Given the description of an element on the screen output the (x, y) to click on. 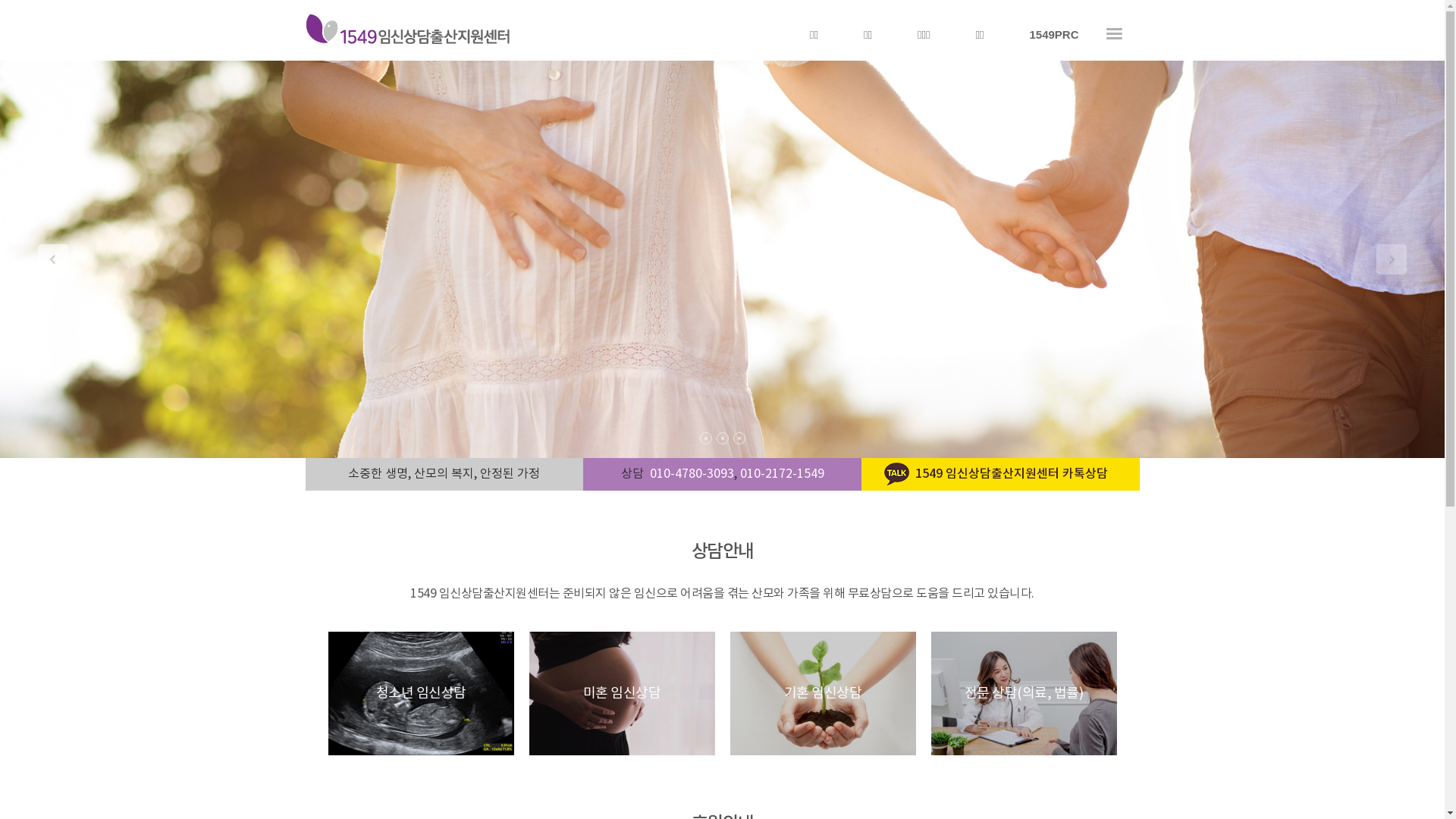
1549PRC Element type: text (1053, 34)
010-2172-1549 Element type: text (782, 473)
010-4780-3093 Element type: text (691, 473)
